Given the description of an element on the screen output the (x, y) to click on. 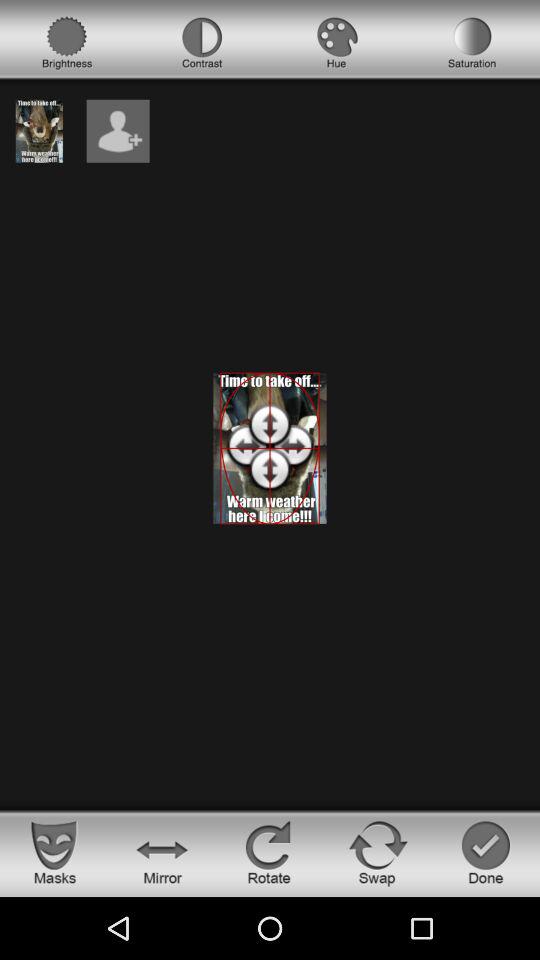
color (337, 43)
